Given the description of an element on the screen output the (x, y) to click on. 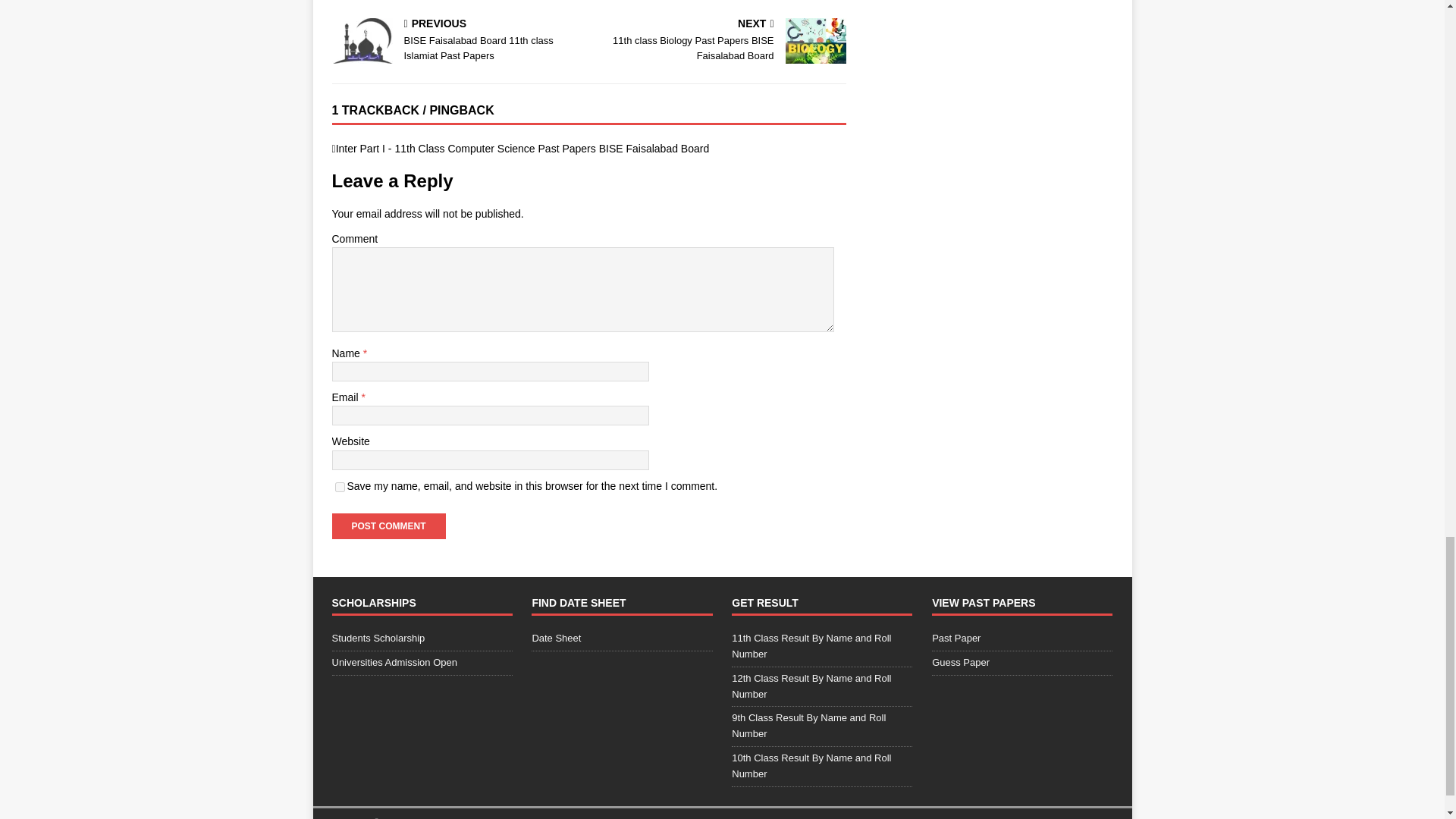
Post Comment (388, 525)
Post Comment (388, 525)
yes (339, 486)
